Given the description of an element on the screen output the (x, y) to click on. 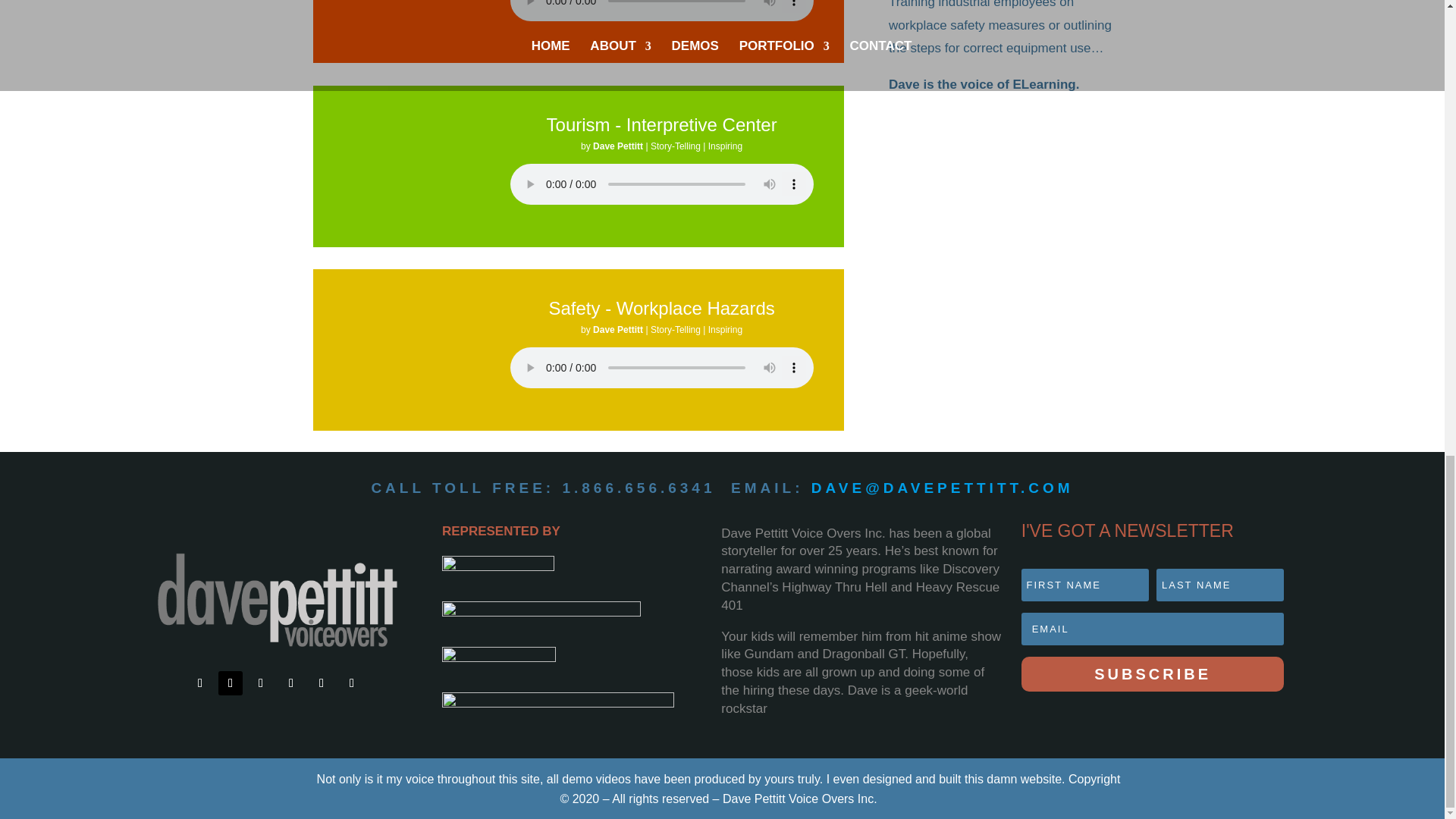
Follow on X (230, 682)
Follow on Instagram (351, 682)
Follow on Youtube (290, 682)
Follow on Facebook (199, 682)
Follow on Vimeo (320, 682)
DavePettittLogo-Grayscale (275, 600)
Follow on LinkedIn (260, 682)
SUBSCRIBE (1153, 673)
